Given the description of an element on the screen output the (x, y) to click on. 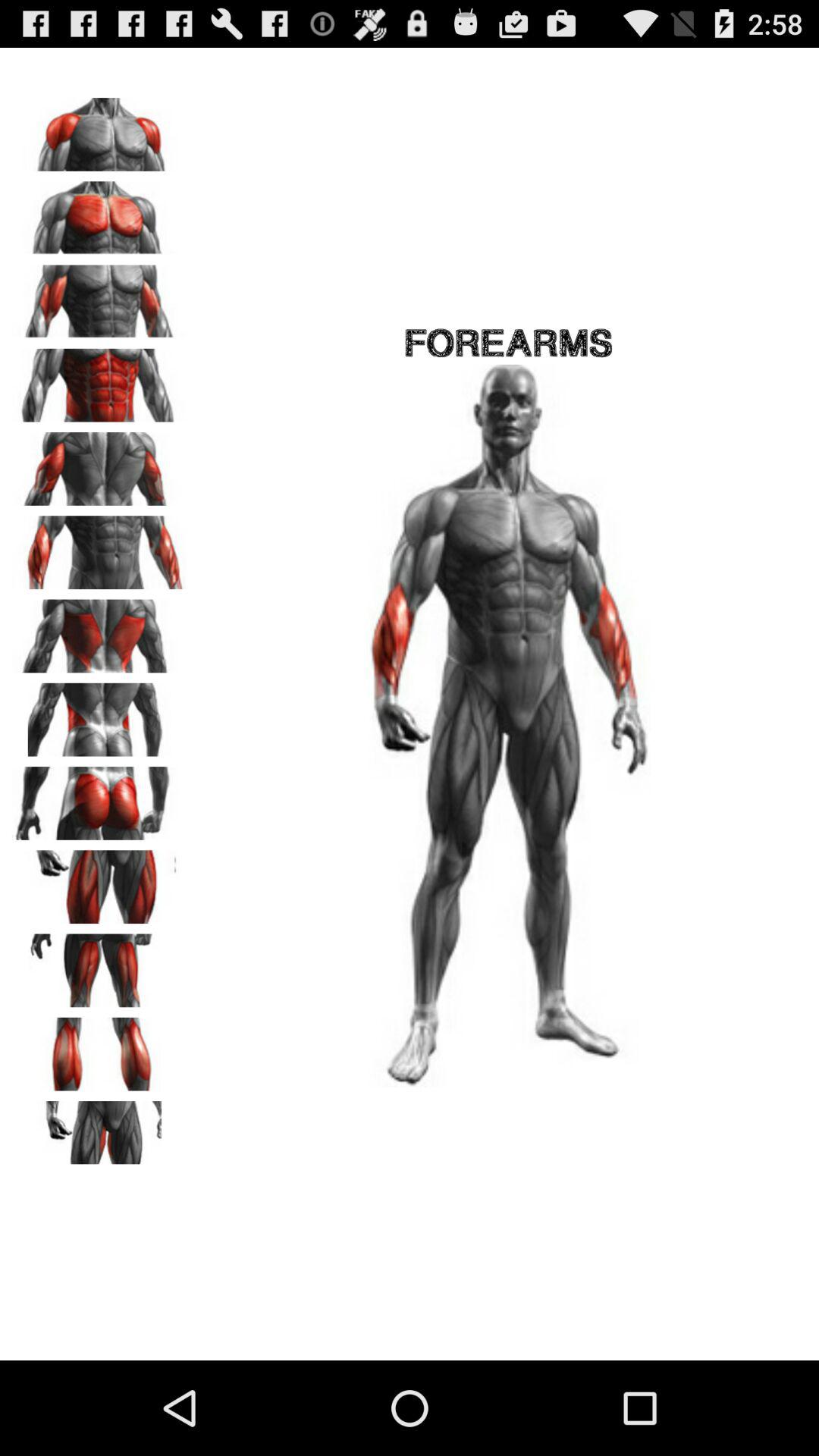
select body part (99, 212)
